Given the description of an element on the screen output the (x, y) to click on. 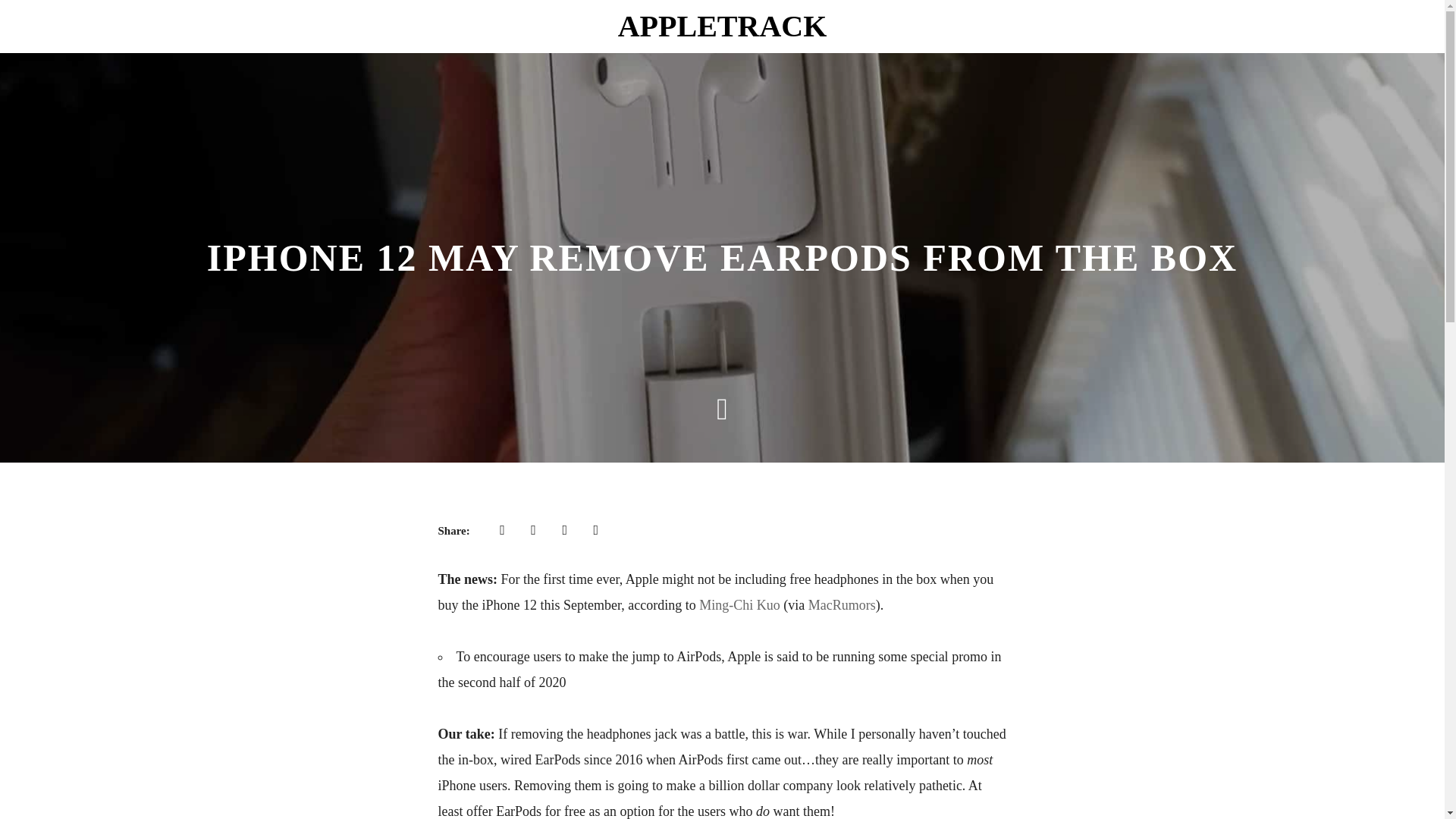
MacRumors (842, 604)
APPLETRACK (722, 26)
Ming-Chi Kuo (739, 604)
